Given the description of an element on the screen output the (x, y) to click on. 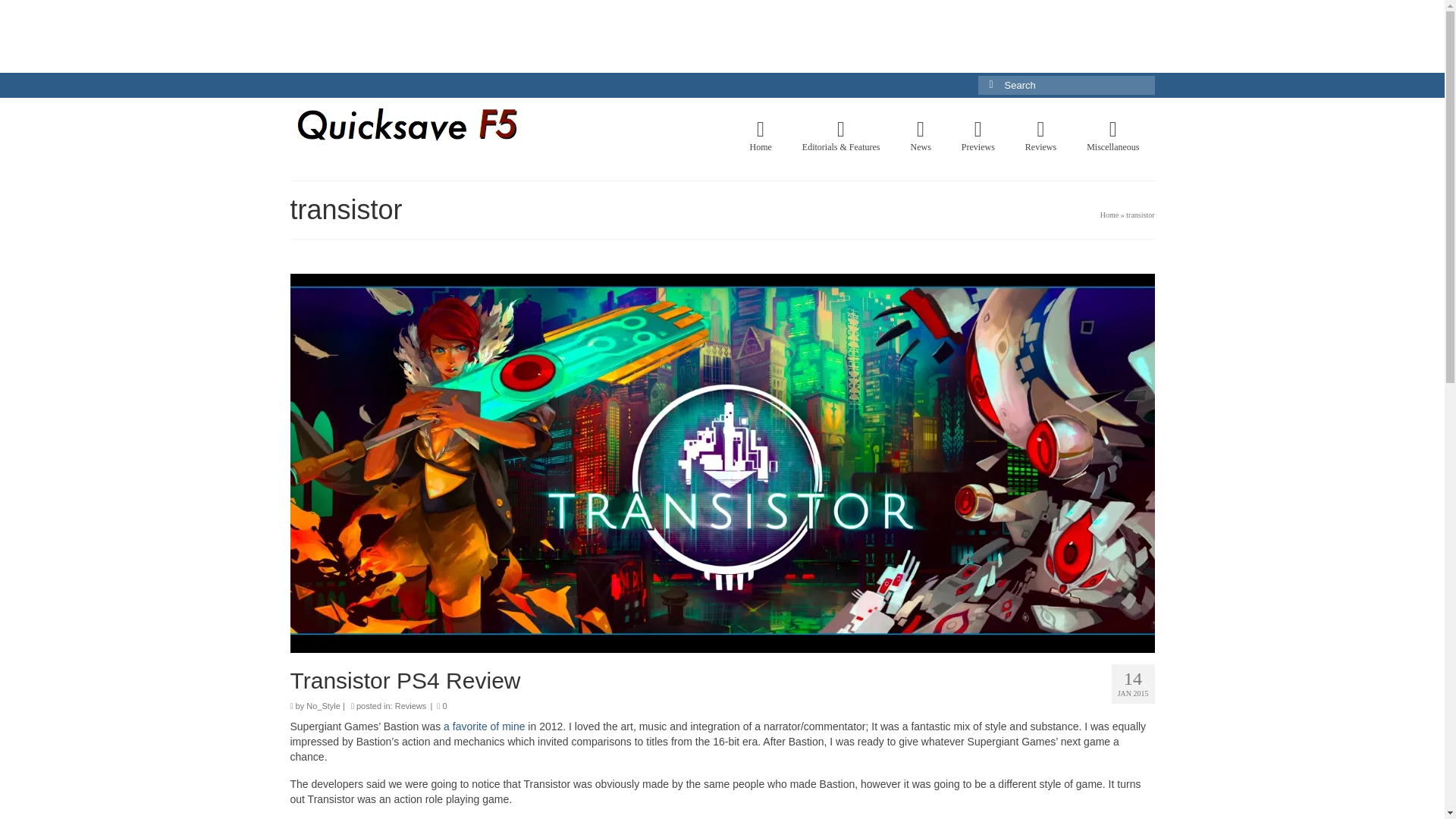
Reviews (410, 705)
Previews (978, 136)
Transistor PS4 Review (721, 680)
Advertisement (721, 33)
Home (1109, 214)
Home (761, 136)
Reviews (1040, 136)
QSF5 (428, 124)
News (919, 136)
0 (441, 705)
Miscellaneous (1112, 136)
a favorite of mine (484, 726)
